Given the description of an element on the screen output the (x, y) to click on. 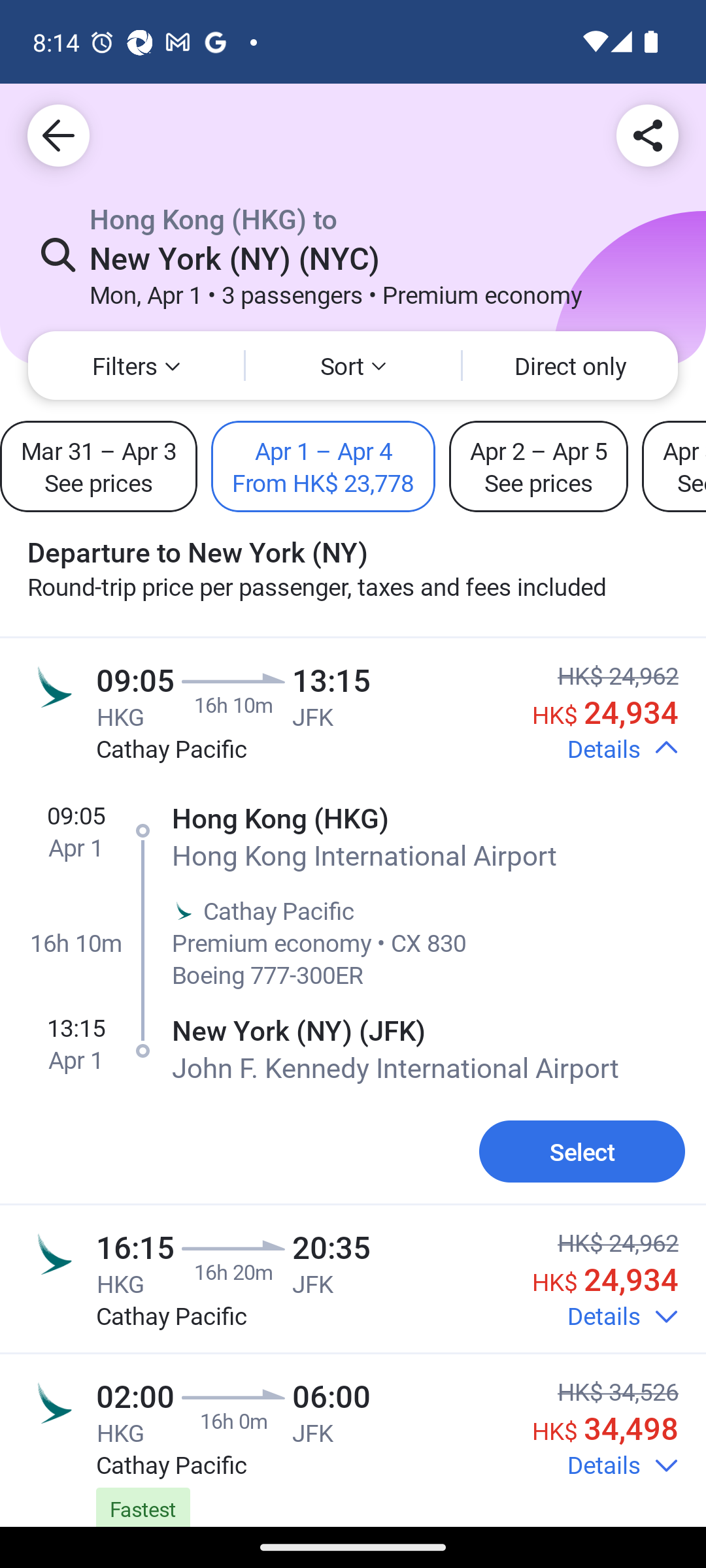
Filters (135, 365)
Sort (353, 365)
Direct only (570, 365)
Mar 31 – Apr 3 See prices (98, 466)
Apr 1 – Apr 4 From HK$ 23,778 (323, 466)
Apr 2 – Apr 5 See prices (538, 466)
Select (581, 1151)
